Given the description of an element on the screen output the (x, y) to click on. 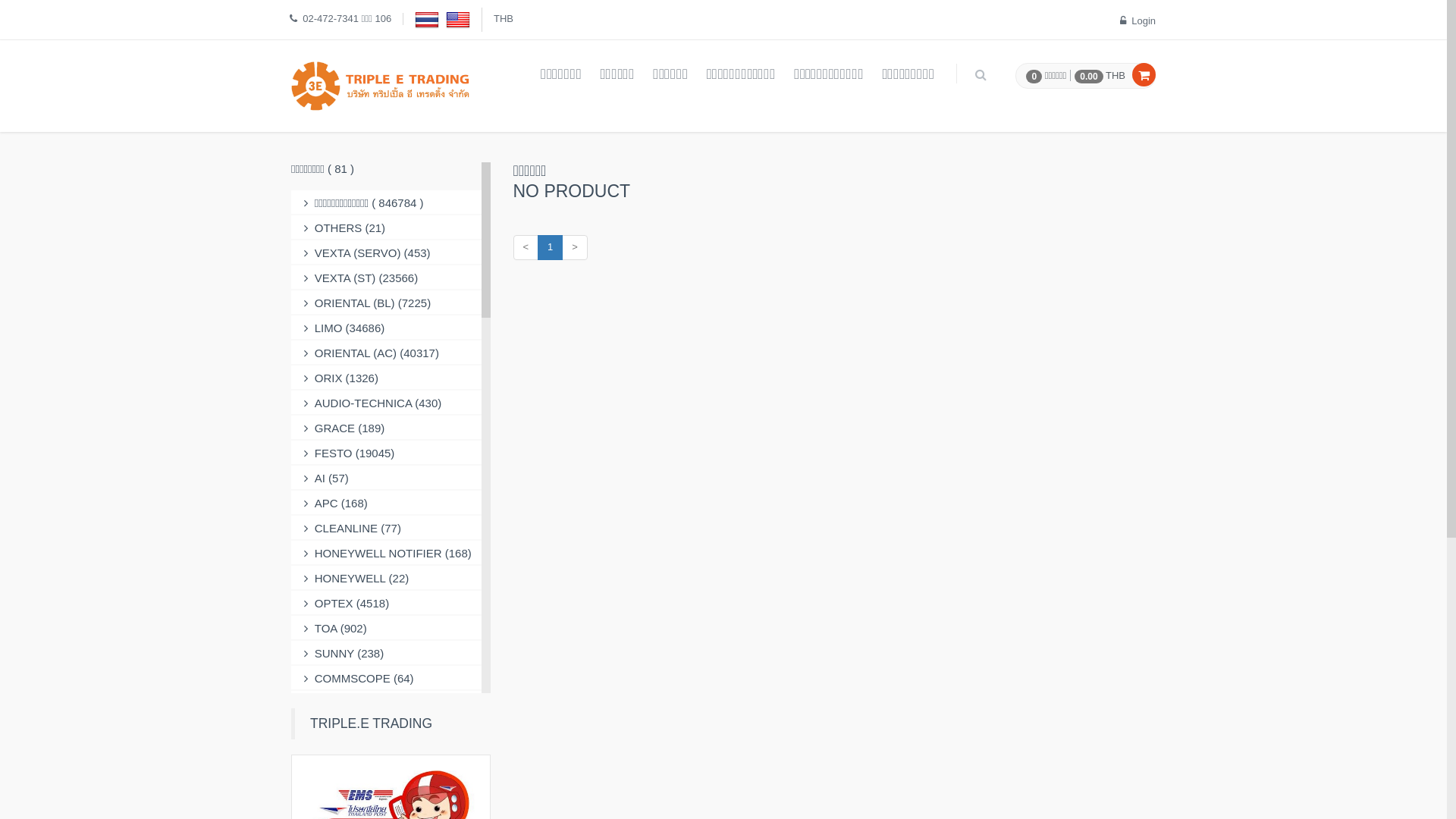
RITTAL (6123) Element type: text (385, 702)
OTHERS (21) Element type: text (385, 227)
TOA (902) Element type: text (385, 627)
SUNNY (238) Element type: text (385, 652)
ORIX (1326) Element type: text (385, 377)
HONEYWELL (22) Element type: text (385, 577)
0.00 THB Element type: text (1097, 75)
GRACE (189) Element type: text (385, 427)
ORIENTAL (BL) (7225) Element type: text (385, 302)
APC (168) Element type: text (385, 502)
WEIDMULLER (27634) Element type: text (385, 727)
< Element type: text (525, 247)
VEXTA (SERVO) (453) Element type: text (385, 252)
CLEANLINE (77) Element type: text (385, 527)
1 Element type: text (549, 247)
TRIPLE.E TRADING Element type: text (371, 723)
THB Element type: text (503, 18)
AI (57) Element type: text (385, 477)
Login Element type: text (1137, 20)
HONEYWELL NOTIFIER (168) Element type: text (385, 552)
FESTO (19045) Element type: text (385, 452)
LIMO (34686) Element type: text (385, 327)
COCORESEARCH (1) Element type: text (385, 777)
COMMSCOPE (64) Element type: text (385, 677)
> Element type: text (574, 247)
MEIKOSHA (1) Element type: text (385, 803)
ORIENTAL (AC) (40317) Element type: text (385, 352)
BTICINO (802) Element type: text (385, 752)
OPTEX (4518) Element type: text (385, 602)
VEXTA (ST) (23566) Element type: text (385, 277)
AUDIO-TECHNICA (430) Element type: text (385, 402)
